Given the description of an element on the screen output the (x, y) to click on. 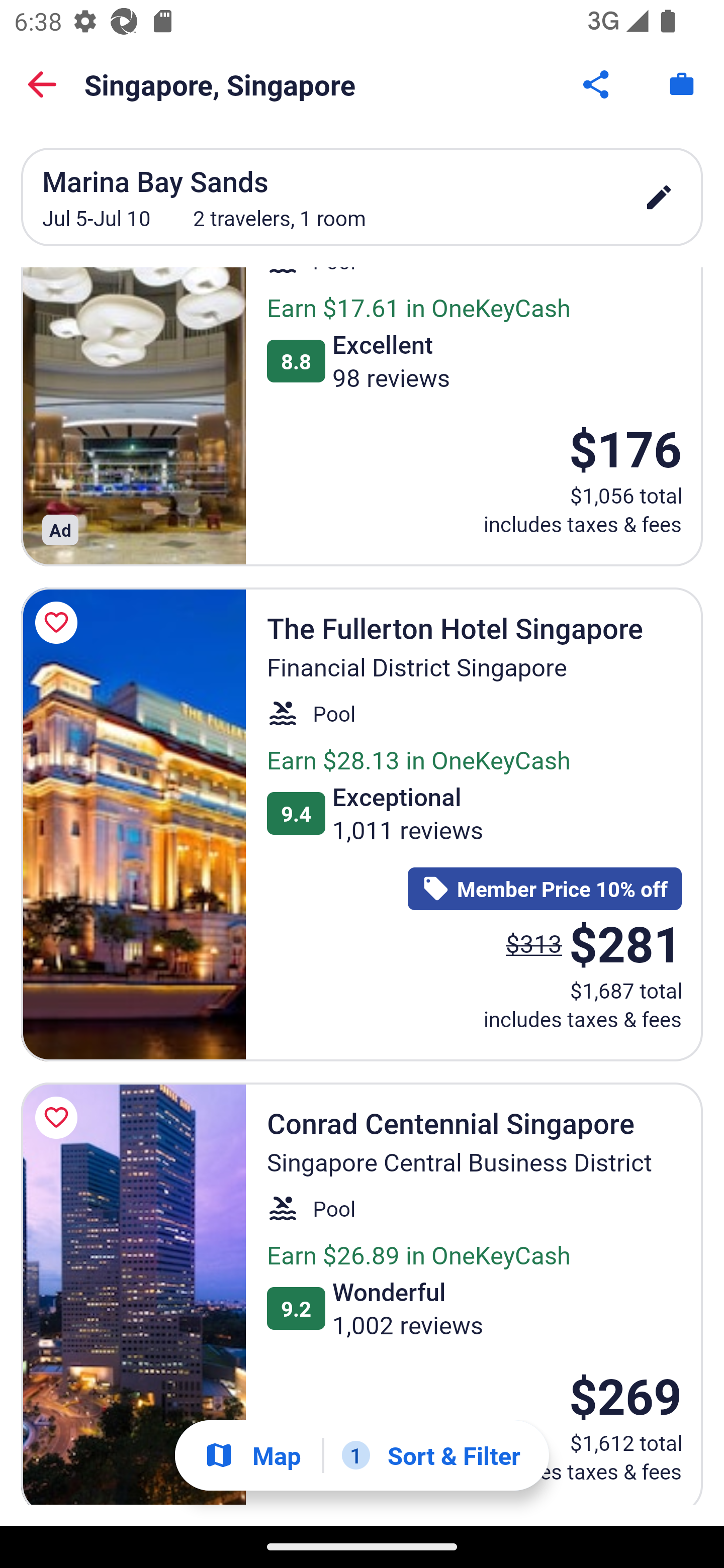
Back (42, 84)
Share Button (597, 84)
Trips. Button (681, 84)
Grand Copthorne Waterfront (133, 417)
Save The Fullerton Hotel Singapore to a trip (59, 622)
The Fullerton Hotel Singapore (133, 824)
$313 The price was $313 (533, 943)
Save Conrad Centennial Singapore to a trip (59, 1117)
Conrad Centennial Singapore (133, 1293)
1 Sort & Filter 1 Filter applied. Filters Button (430, 1455)
Show map Map Show map Button (252, 1455)
